Given the description of an element on the screen output the (x, y) to click on. 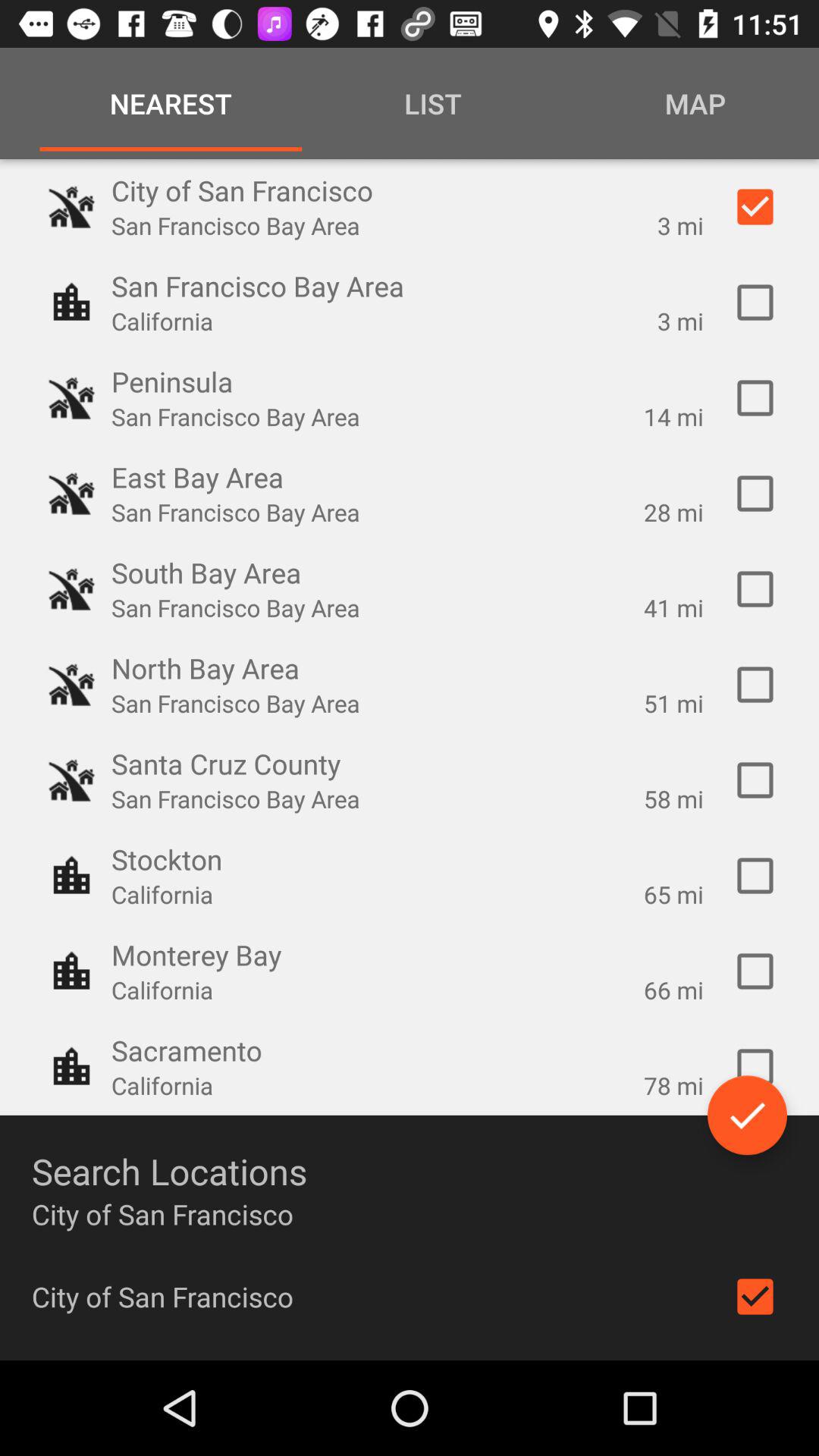
make a selection (755, 780)
